Given the description of an element on the screen output the (x, y) to click on. 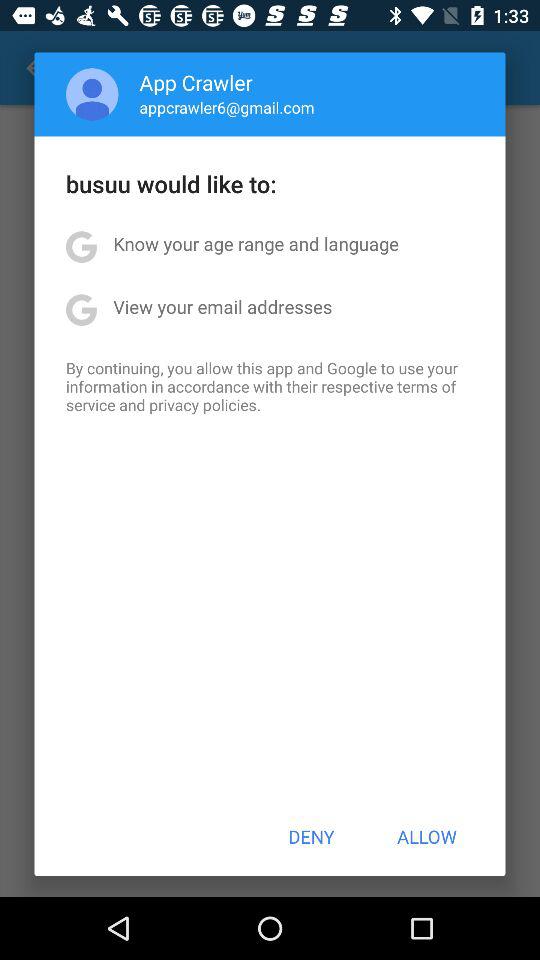
flip to view your email (222, 306)
